Given the description of an element on the screen output the (x, y) to click on. 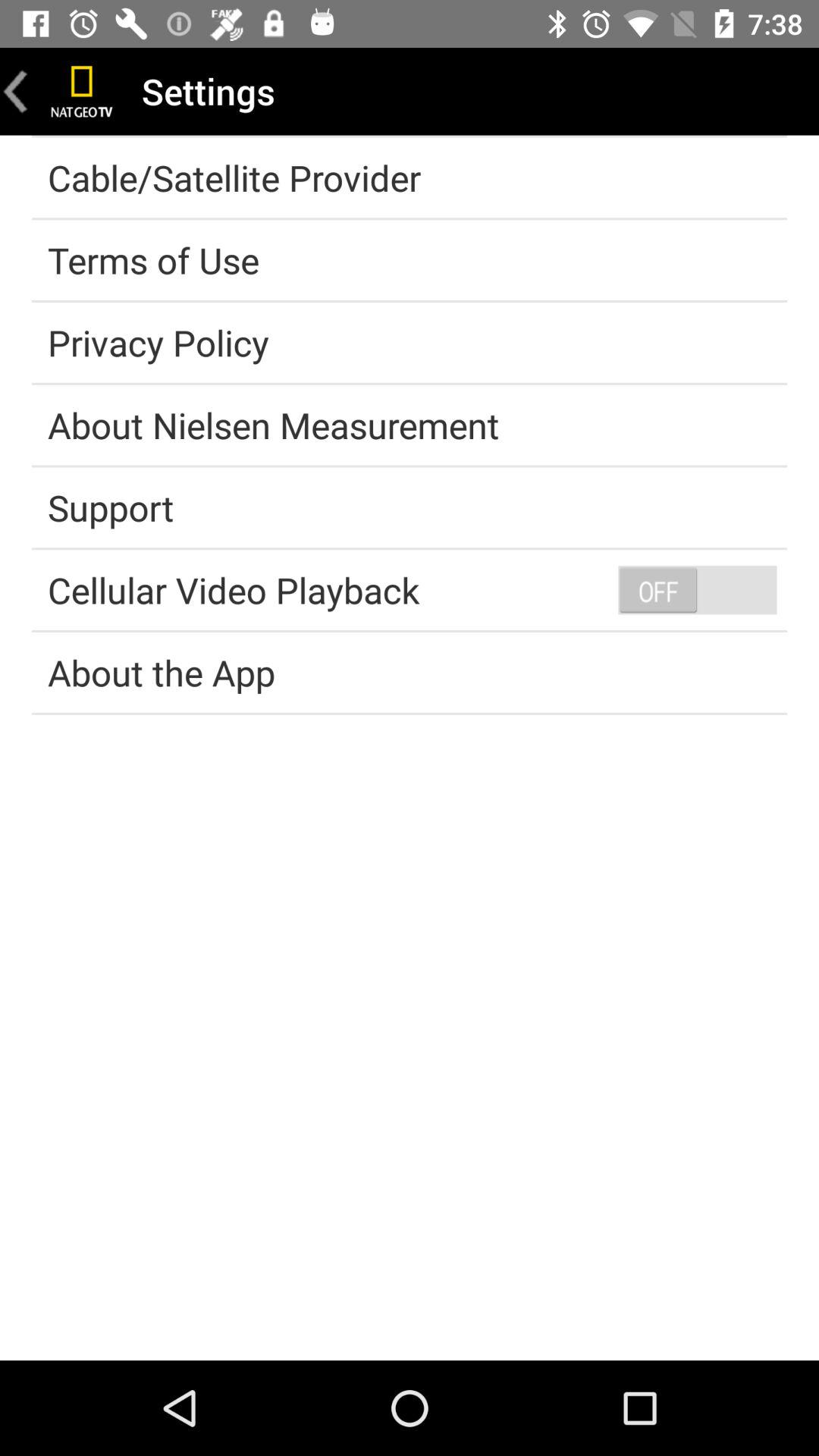
home page (81, 91)
